Given the description of an element on the screen output the (x, y) to click on. 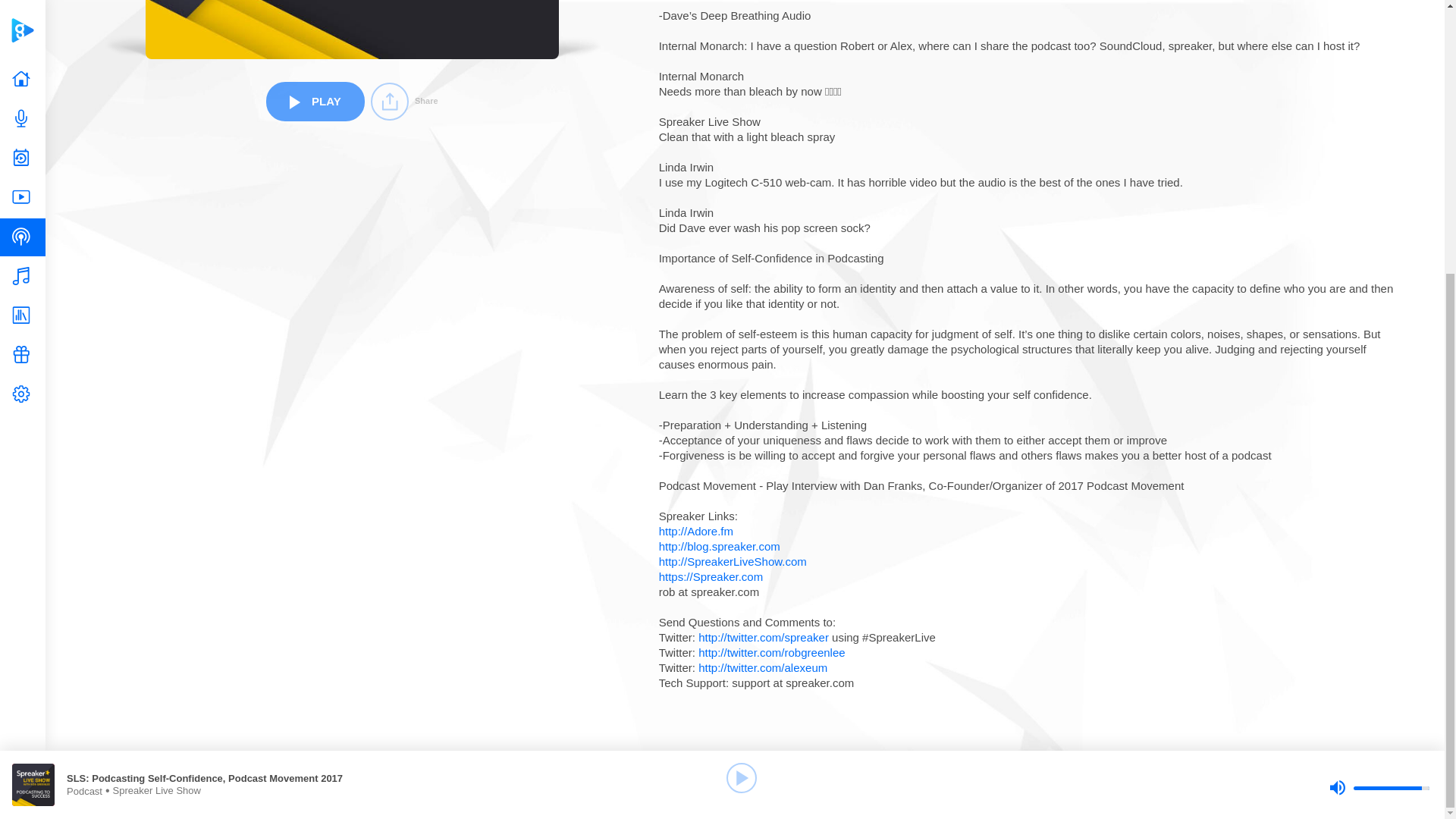
Mute (1336, 385)
PLAY (315, 100)
Share (404, 101)
Play (741, 375)
SLS: Podcasting Self-Confidence, Podcast Movement 2017 (213, 376)
Share (404, 101)
